Given the description of an element on the screen output the (x, y) to click on. 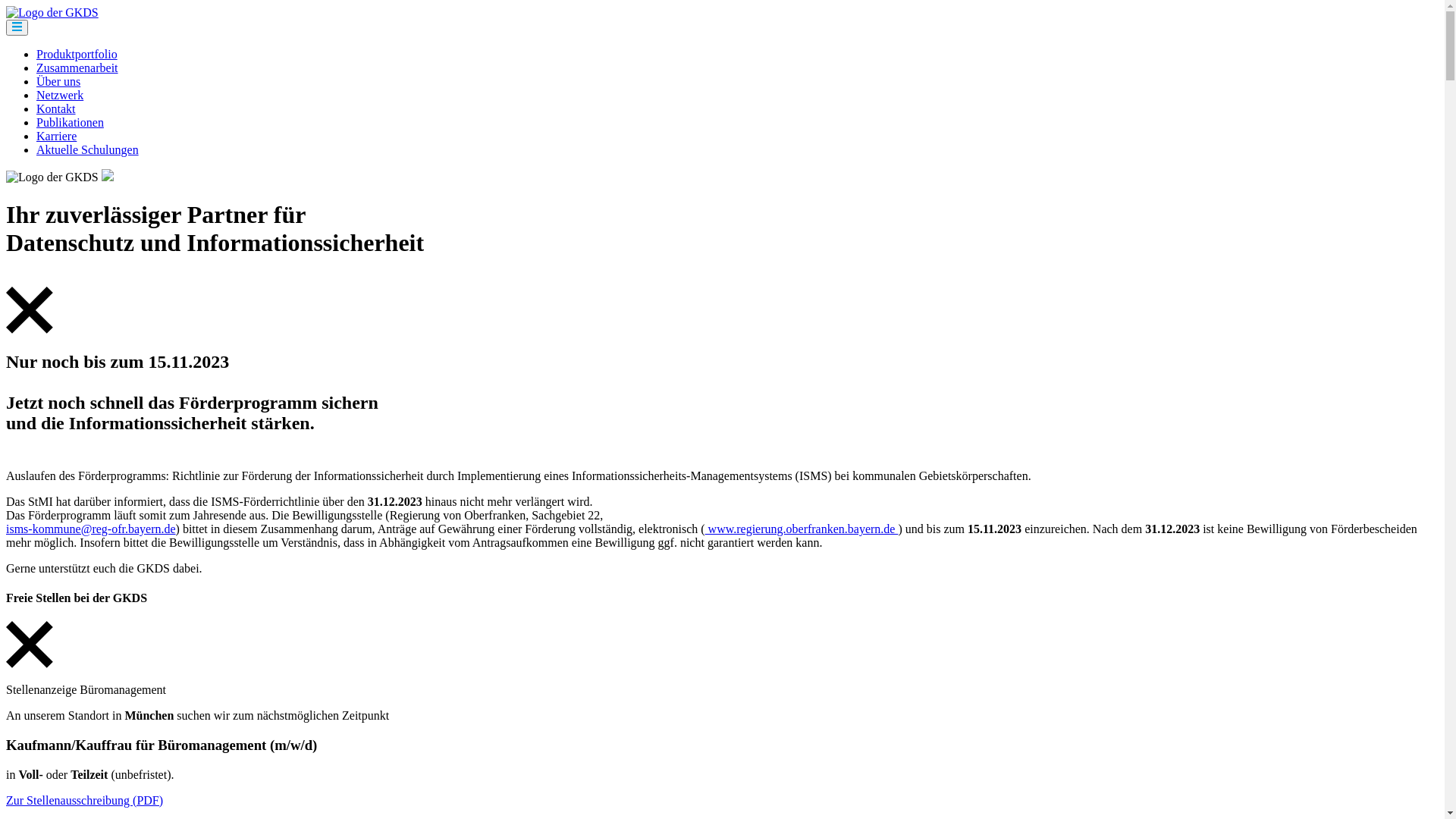
Aktuelle Schulungen Element type: text (87, 149)
Freie Stellen bei der GKDS Element type: text (722, 598)
Publikationen Element type: text (69, 122)
Karriere Element type: text (56, 135)
Zur Stellenausschreibung (PDF) Element type: text (84, 799)
Produktportfolio Element type: text (76, 53)
Zusammenarbeit Element type: text (77, 67)
Netzwerk Element type: text (59, 94)
www.regierung.oberfranken.bayern.de Element type: text (801, 528)
isms-kommune@reg-ofr.bayern.de Element type: text (90, 528)
Kontakt Element type: text (55, 108)
